Given the description of an element on the screen output the (x, y) to click on. 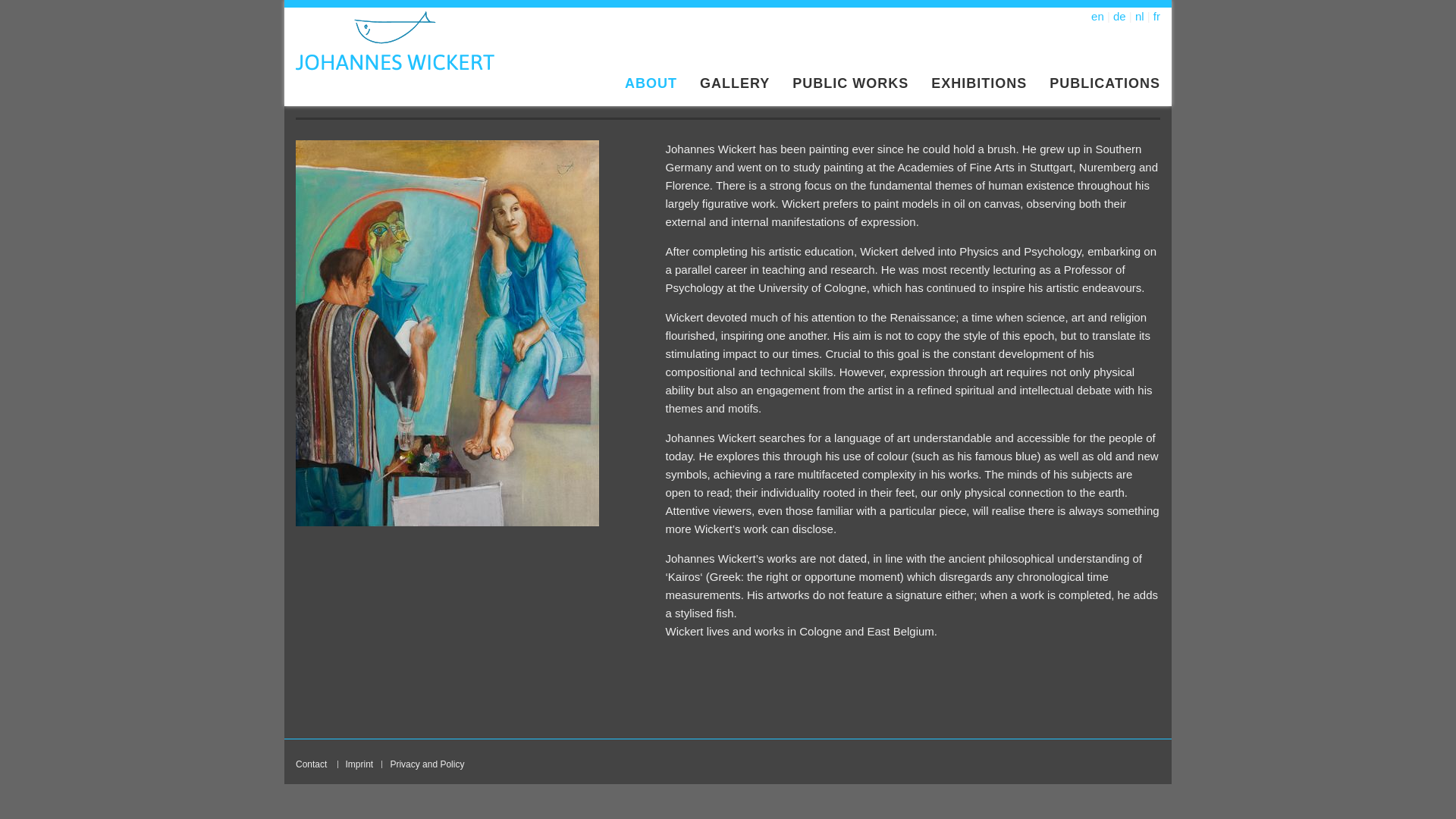
Privacy and Policy (427, 764)
Contact (310, 764)
GALLERY (734, 83)
Contact (310, 764)
ABOUT (650, 83)
Imprint (360, 764)
Privacy and Policy (427, 764)
Imprint (360, 764)
